Given the description of an element on the screen output the (x, y) to click on. 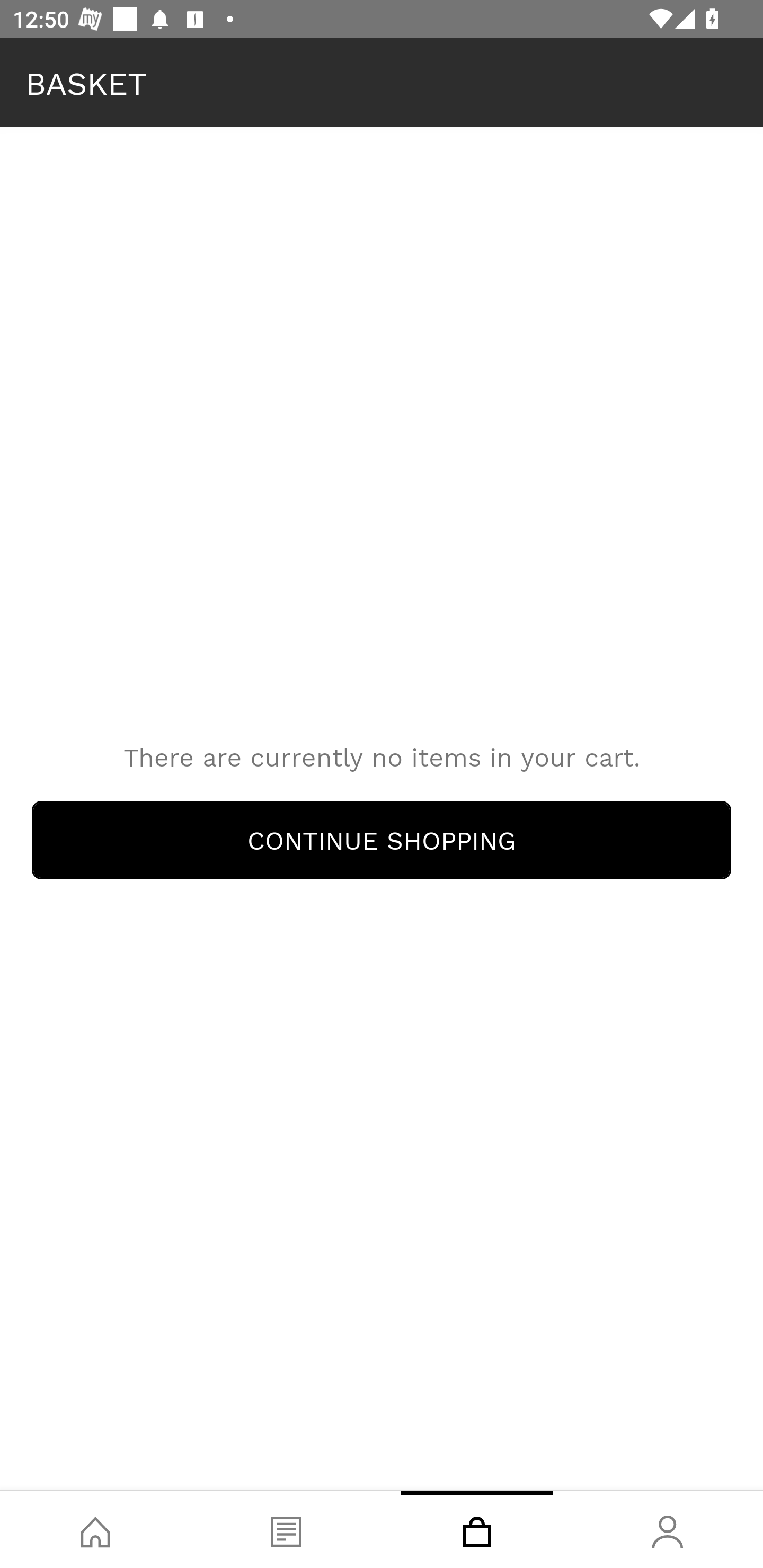
Continue Shopping CONTINUE SHOPPING (381, 840)
Shop, tab, 1 of 4 (95, 1529)
Blog, tab, 2 of 4 (285, 1529)
Basket, tab, 3 of 4 (476, 1529)
Account, tab, 4 of 4 (667, 1529)
